Given the description of an element on the screen output the (x, y) to click on. 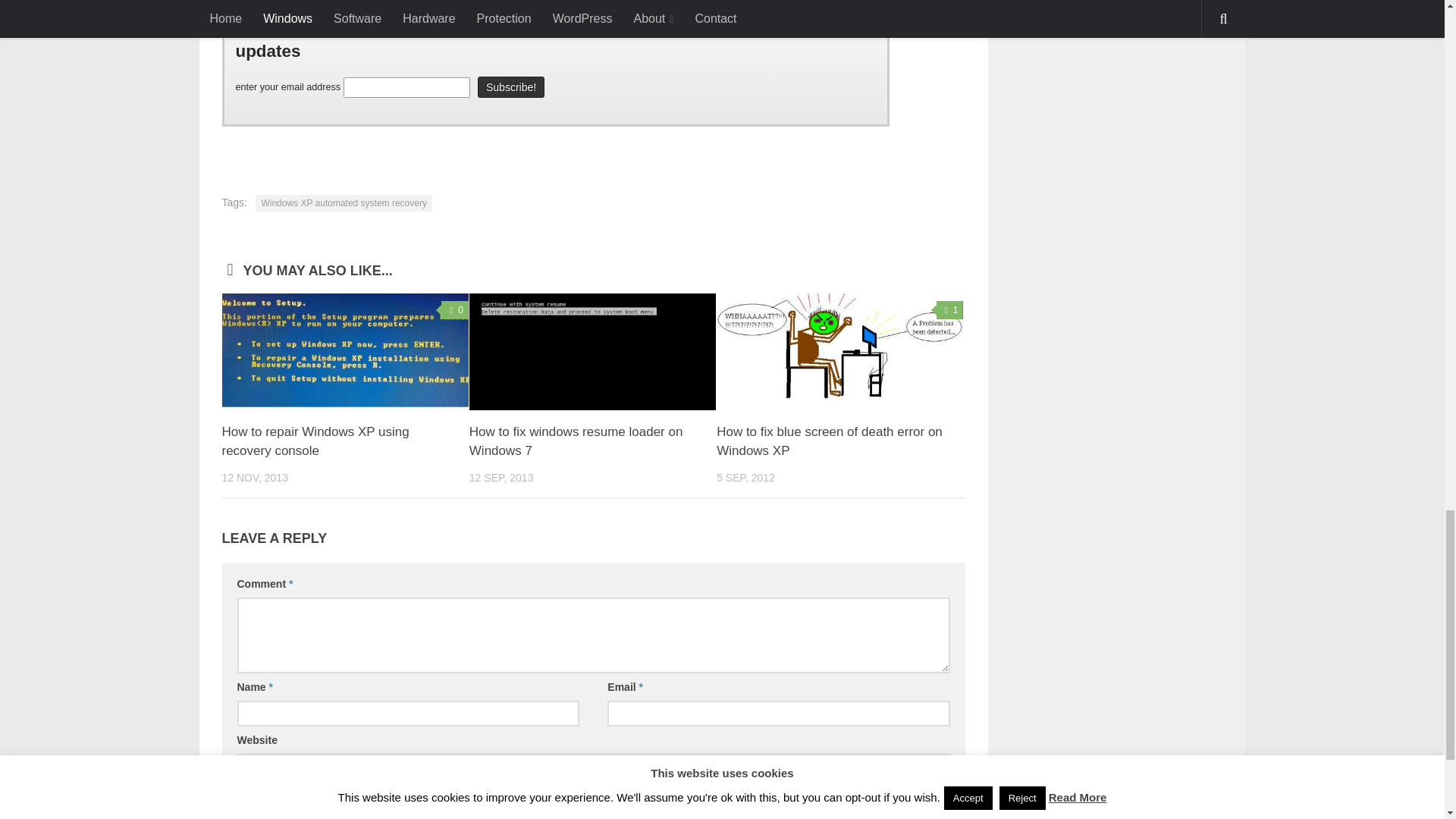
Subscribe! (510, 86)
Windows XP automated system recovery (344, 202)
How to repair Windows XP using recovery console (344, 351)
How to fix blue screen of death error on Windows XP (829, 441)
How to fix blue screen of death error on Windows XP (839, 351)
1 (949, 310)
0 (454, 310)
How to fix windows resume loader on Windows 7 (592, 351)
How to repair Windows XP using recovery console (315, 441)
How to fix windows resume loader on Windows 7 (575, 441)
How to fix blue screen of death error on Windows XP (829, 441)
How to fix windows resume loader on Windows 7 (575, 441)
Post Comment (284, 799)
Subscribe! (510, 86)
Post Comment (284, 799)
